Given the description of an element on the screen output the (x, y) to click on. 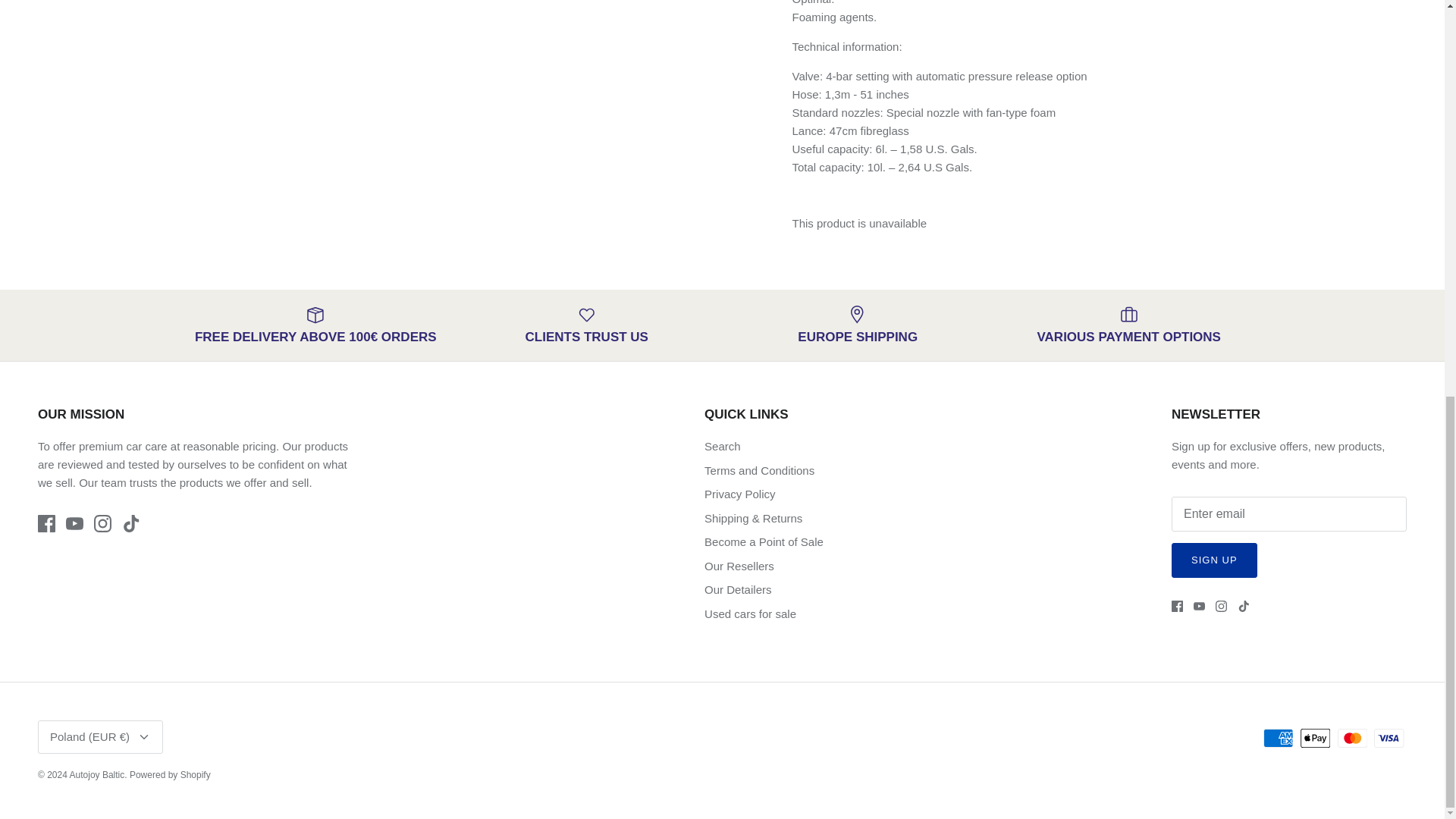
Facebook (46, 523)
Instagram (103, 523)
Youtube (73, 523)
Facebook (1177, 605)
Youtube (1199, 605)
Instagram (1221, 605)
